Given the description of an element on the screen output the (x, y) to click on. 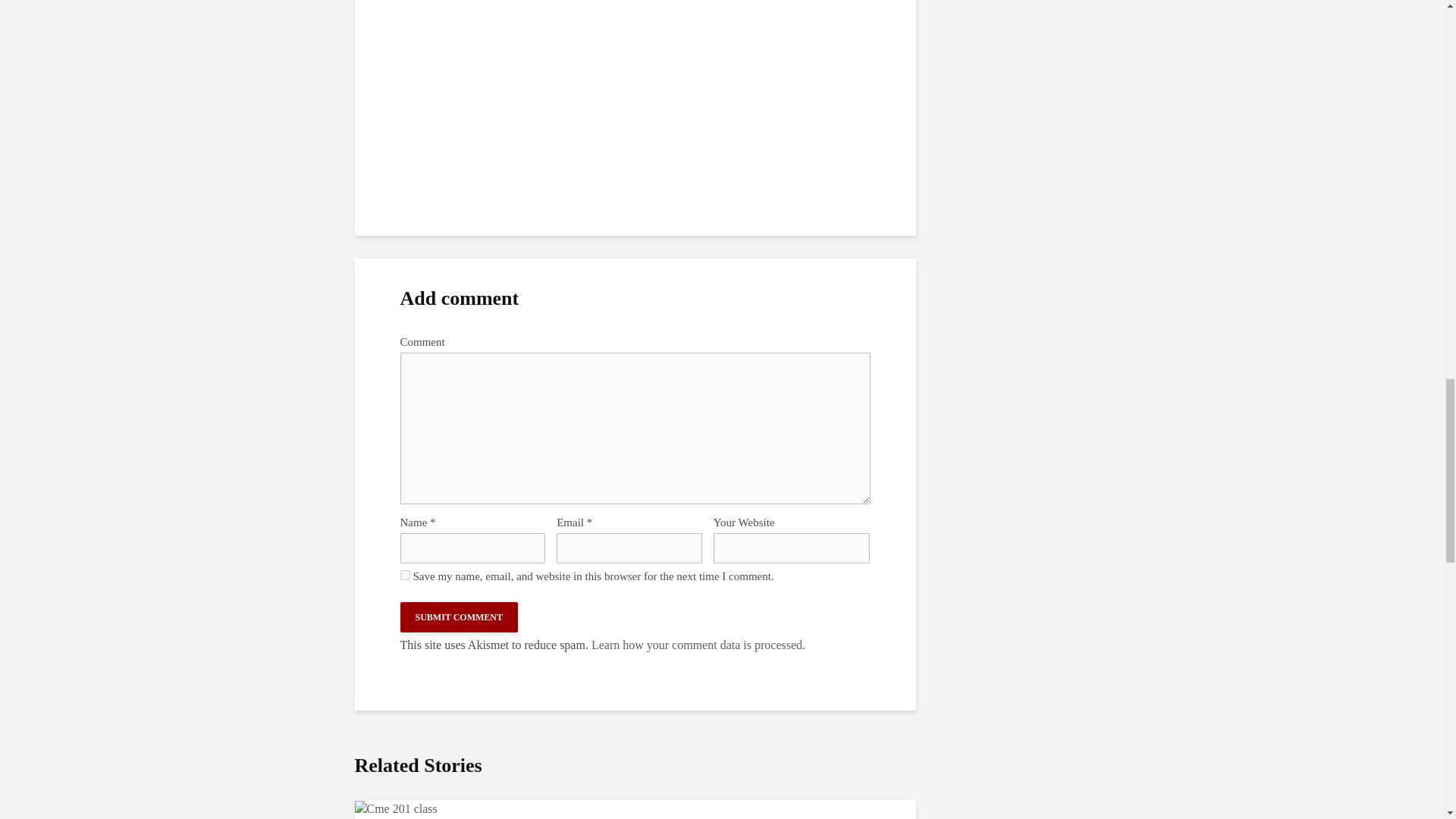
yes (405, 574)
Students Propose On-Campus Sustainability Plans (396, 807)
Submit Comment (459, 616)
